Given the description of an element on the screen output the (x, y) to click on. 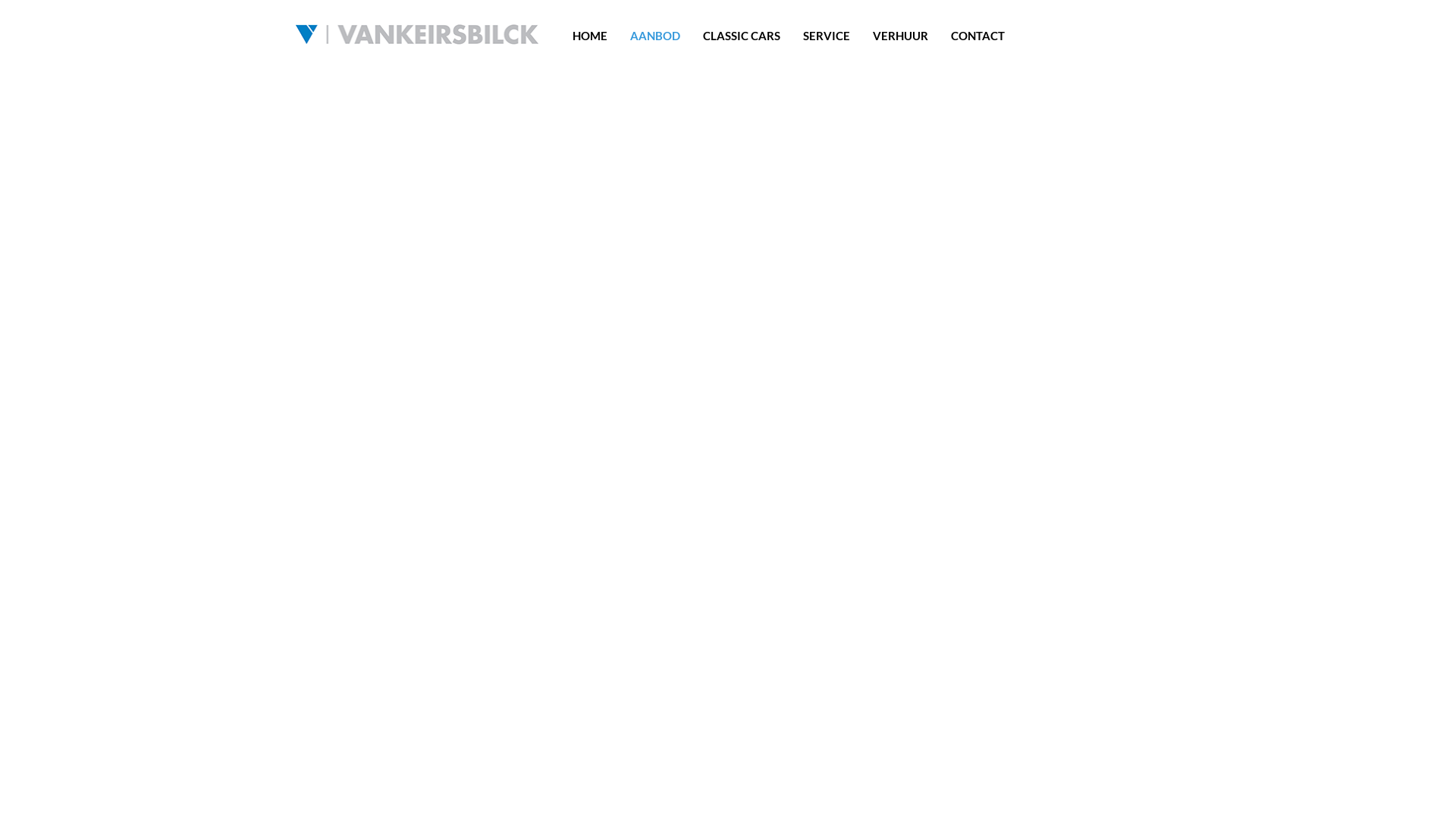
SERVICE Element type: text (826, 35)
HOME Element type: text (589, 35)
AANBOD Element type: text (654, 35)
VERHUUR Element type: text (900, 35)
CLASSIC CARS Element type: text (741, 35)
CONTACT Element type: text (977, 35)
